Given the description of an element on the screen output the (x, y) to click on. 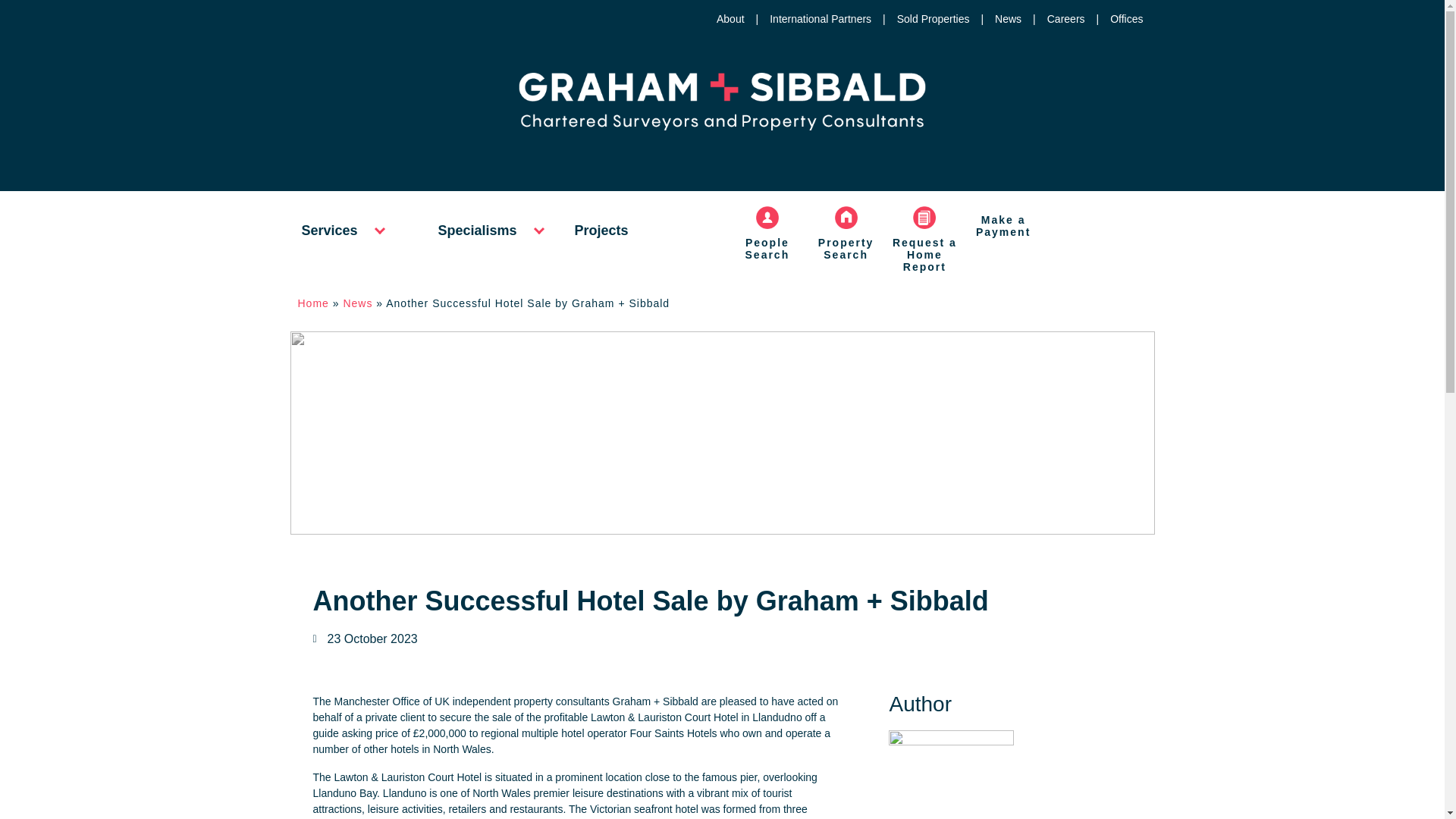
Careers (1059, 19)
International Partners (814, 19)
About (724, 19)
Specialisms (477, 230)
Offices (1120, 19)
Services (329, 230)
Sold Properties (927, 19)
News (1003, 19)
